Given the description of an element on the screen output the (x, y) to click on. 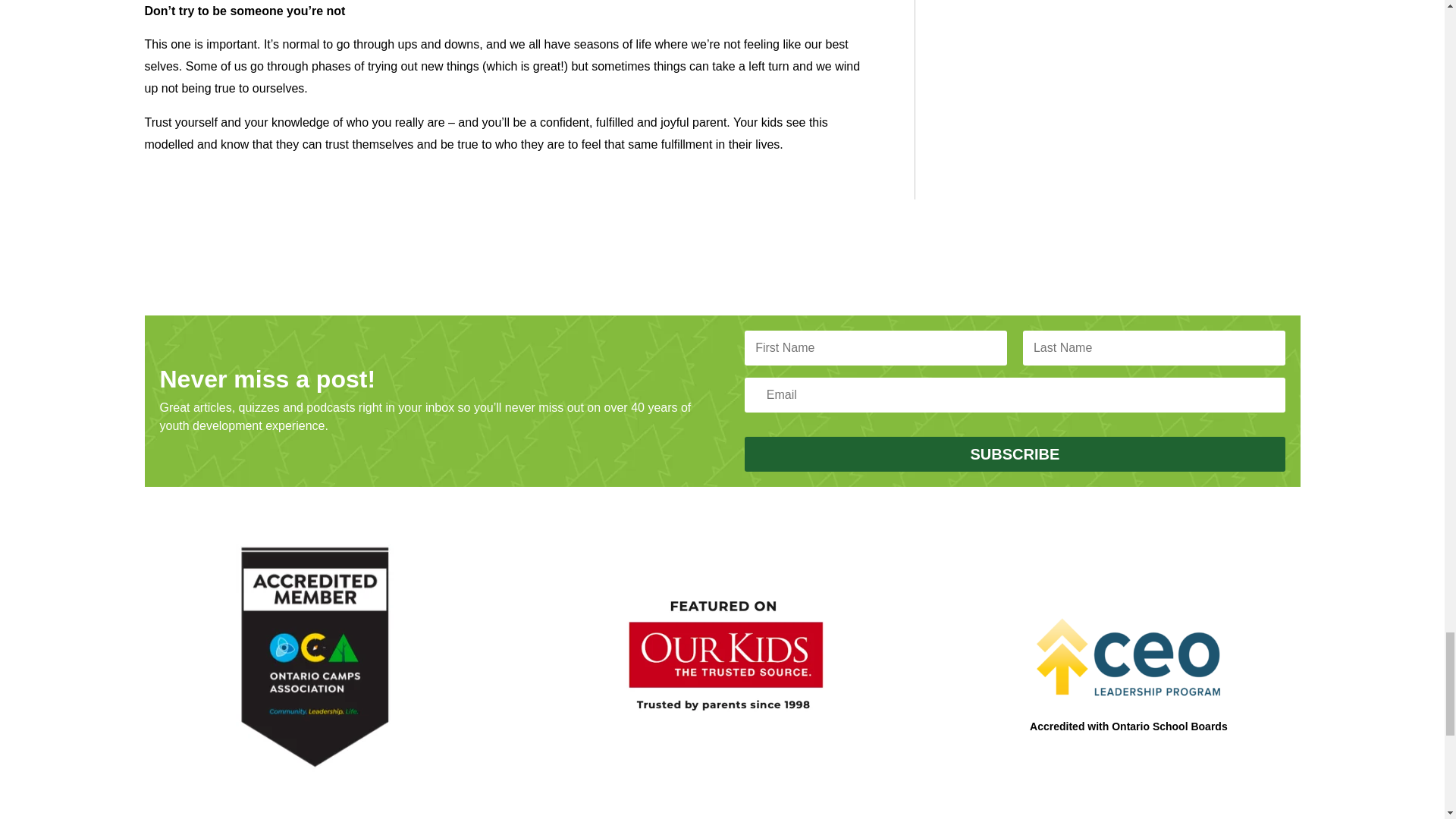
SUBSCRIBE (1014, 453)
Muskoka Woods is a trusted partner of Our Kids (721, 657)
